Given the description of an element on the screen output the (x, y) to click on. 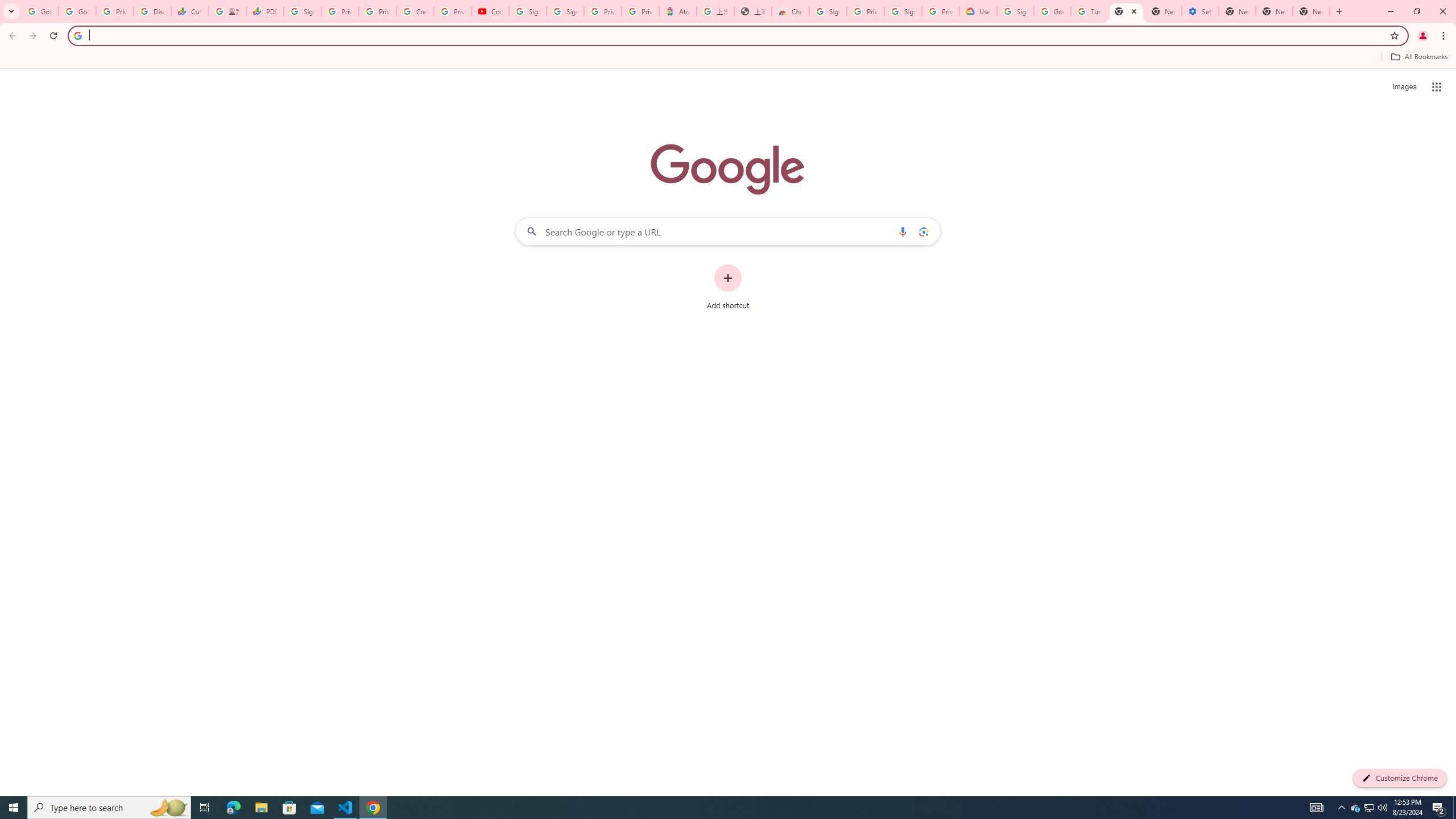
Search Google or type a URL (727, 230)
Sign in - Google Accounts (1015, 11)
Google Workspace Admin Community (40, 11)
Sign in - Google Accounts (903, 11)
